Given the description of an element on the screen output the (x, y) to click on. 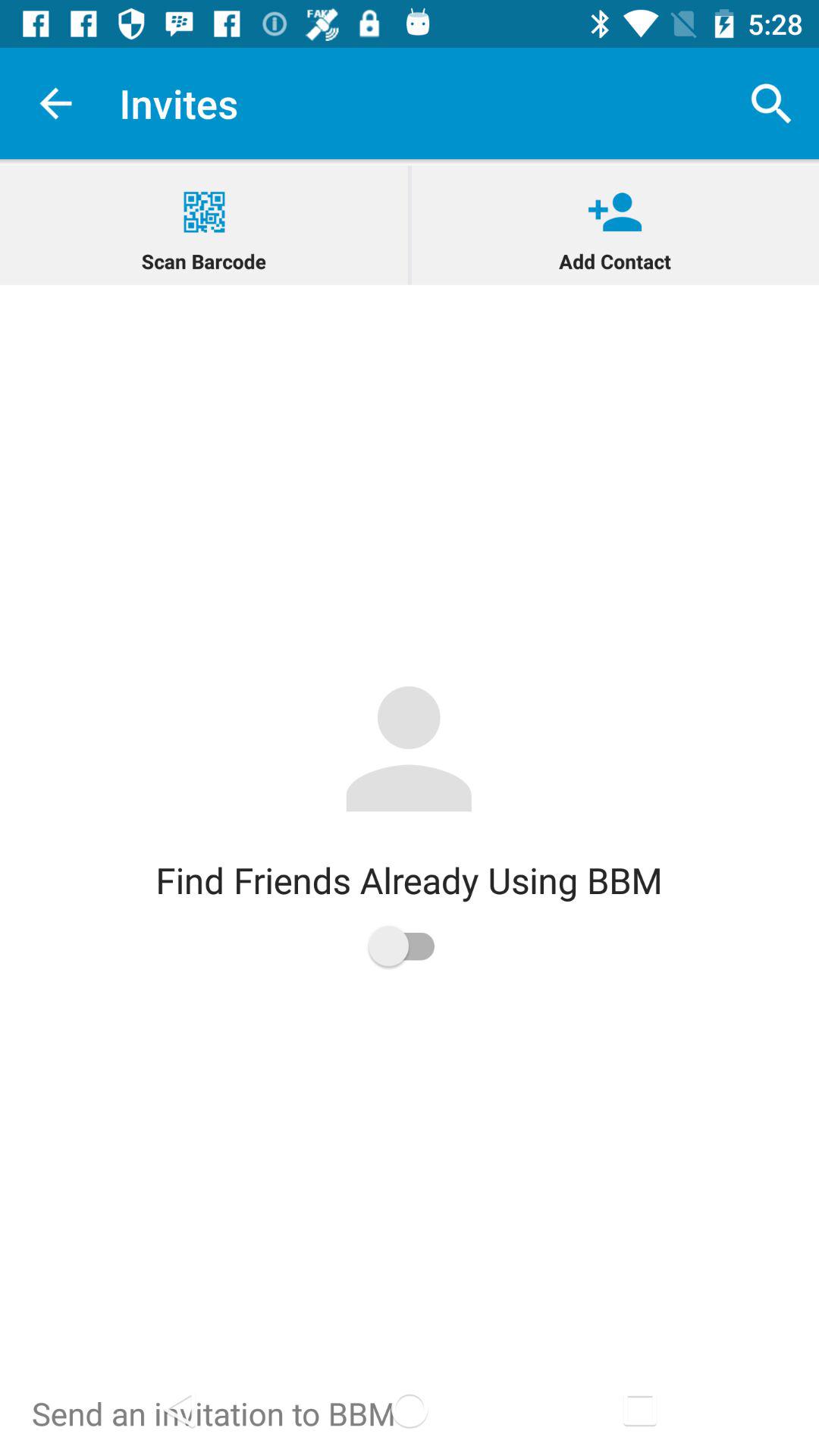
tap app to the left of invites app (55, 103)
